Given the description of an element on the screen output the (x, y) to click on. 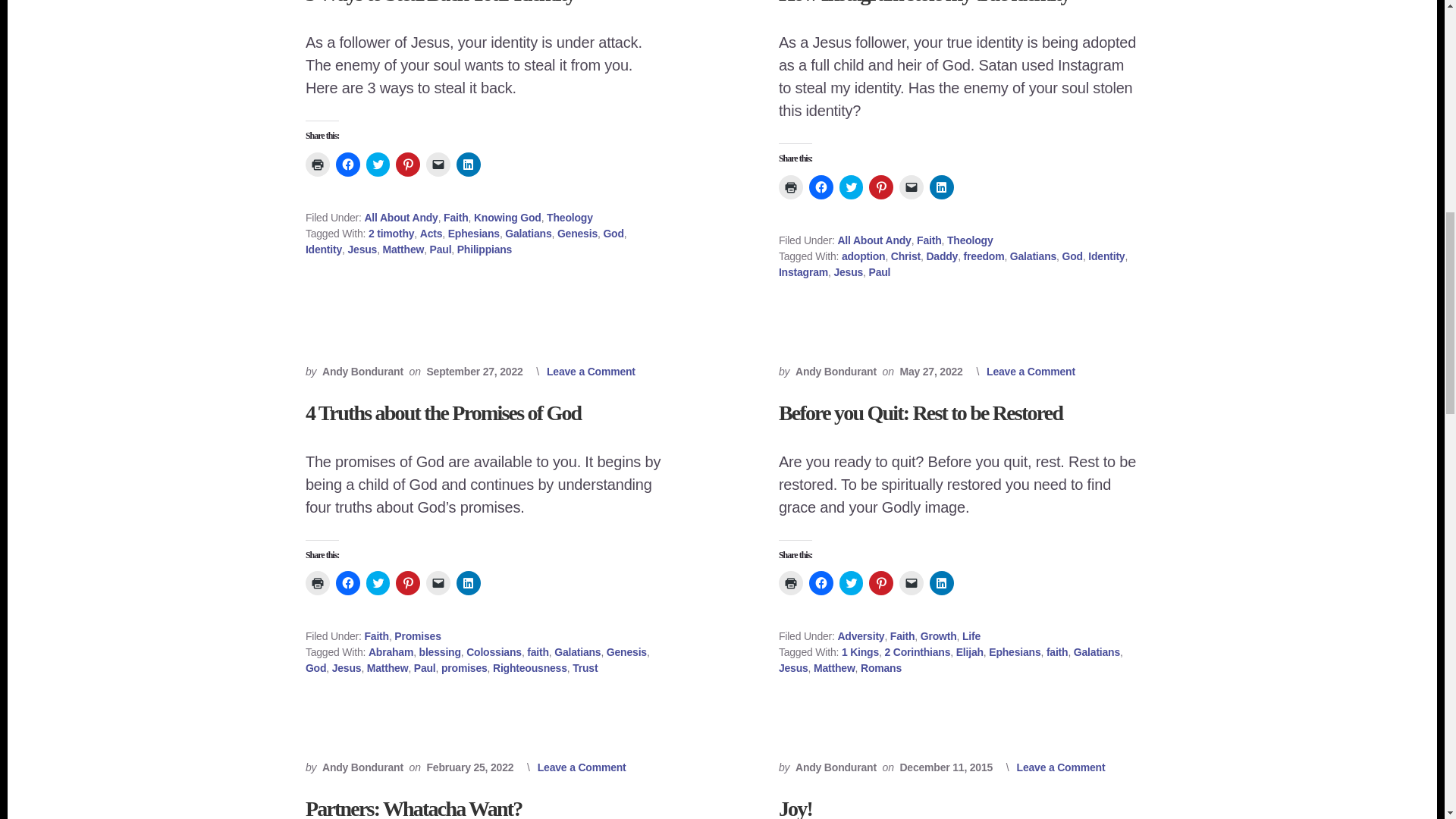
Click to share on Twitter (378, 164)
Click to share on Facebook (347, 164)
Click to share on Pinterest (408, 164)
Click to print (317, 164)
